Given the description of an element on the screen output the (x, y) to click on. 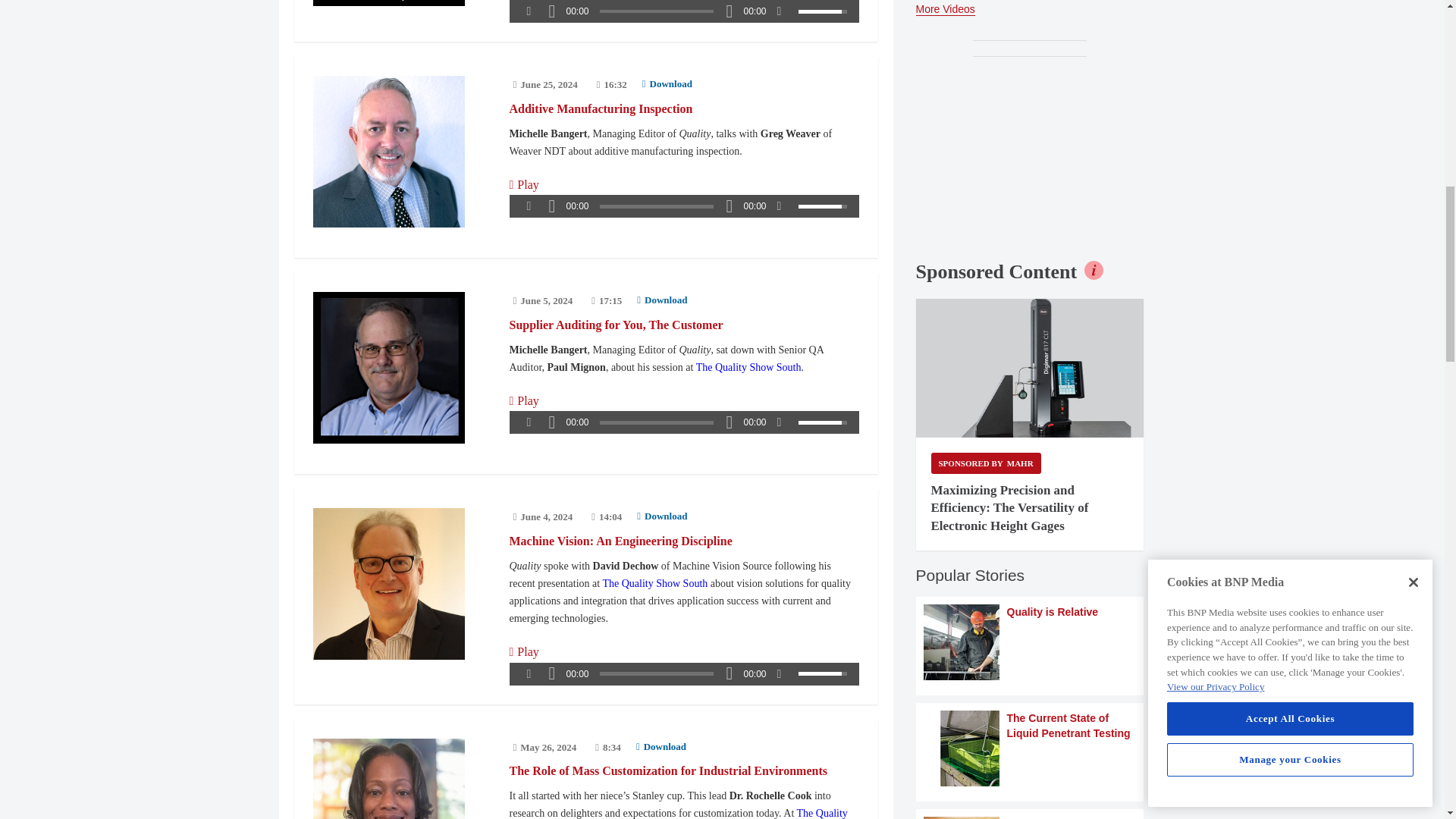
Digimar 817-CLT 4429601 with grey background (1028, 368)
Sponsored by Mahr (986, 462)
Quality is Relative (1029, 642)
The Current State of Liquid Penetrant Testing (1029, 748)
